Given the description of an element on the screen output the (x, y) to click on. 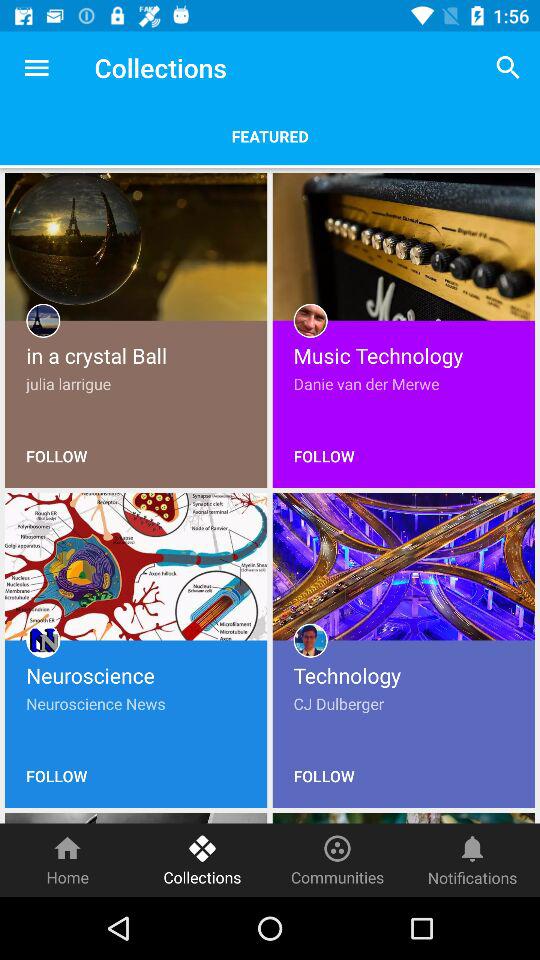
choose icon to the left of the collections app (36, 67)
